Given the description of an element on the screen output the (x, y) to click on. 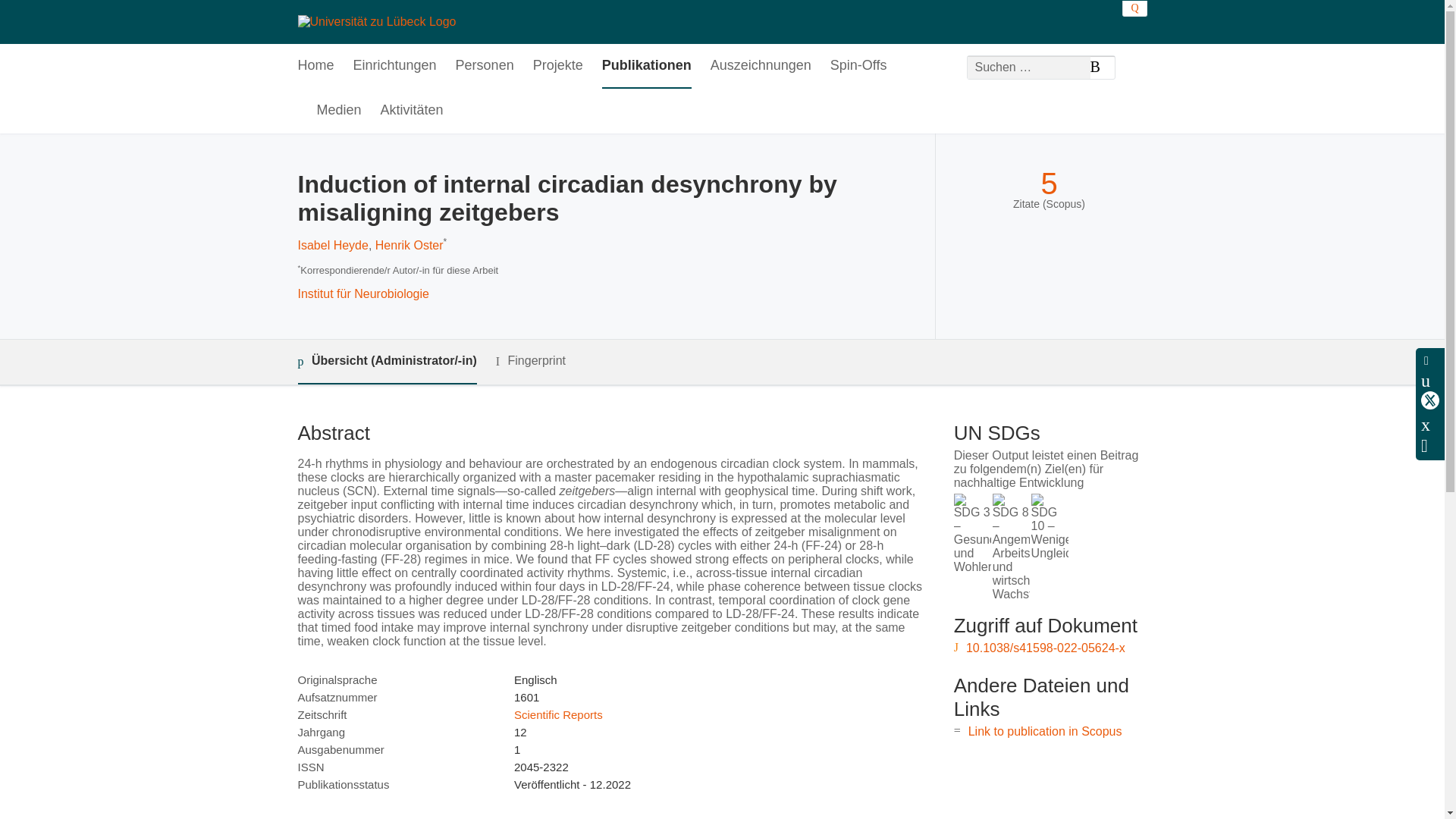
Projekte (557, 66)
Henrik Oster (409, 245)
Auszeichnungen (760, 66)
Medien (339, 110)
Spin-Offs (857, 66)
Link to publication in Scopus (1045, 730)
Fingerprint (531, 361)
Publikationen (646, 66)
Isabel Heyde (332, 245)
